Given the description of an element on the screen output the (x, y) to click on. 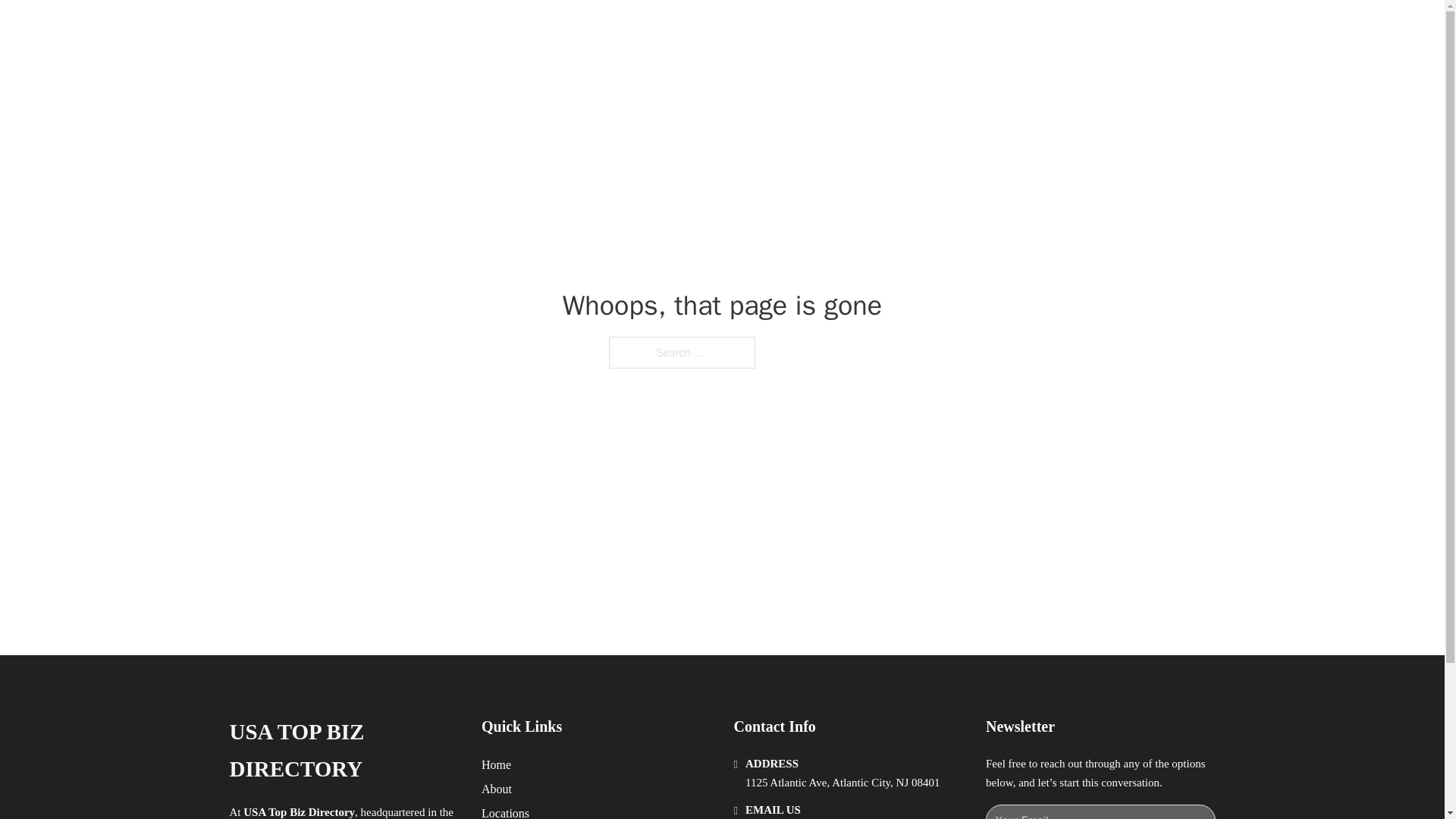
LOCATIONS (990, 29)
About (496, 788)
USA TOP BIZ DIRECTORY (431, 28)
HOME (919, 29)
Locations (505, 811)
USA TOP BIZ DIRECTORY (343, 750)
Home (496, 764)
